Given the description of an element on the screen output the (x, y) to click on. 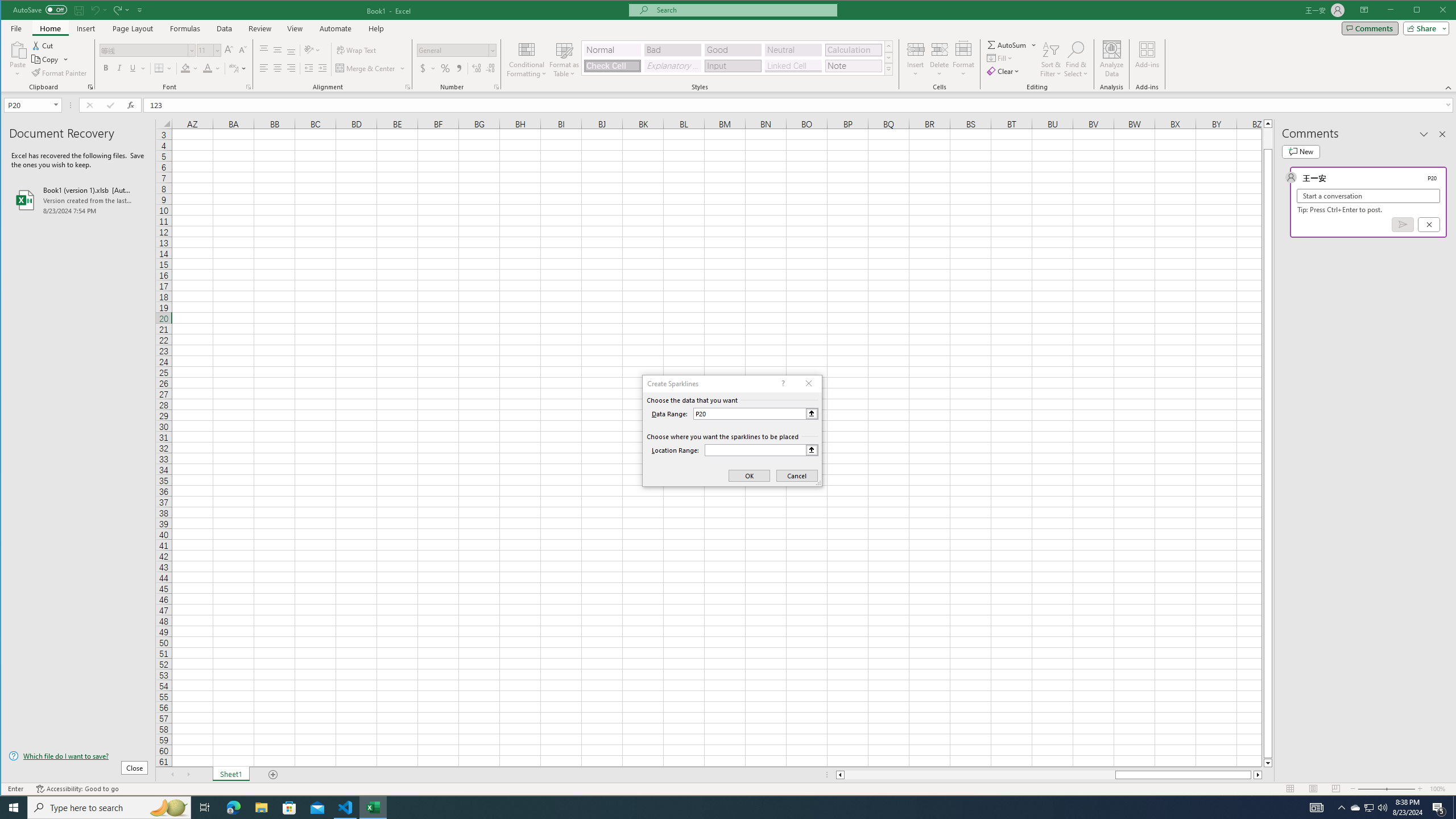
Center (276, 68)
Format Painter (59, 72)
Start a conversation (1368, 195)
Align Right (291, 68)
Paste (17, 59)
Orientation (312, 49)
Post comment (Ctrl + Enter) (1402, 224)
Sort & Filter (1050, 59)
